Given the description of an element on the screen output the (x, y) to click on. 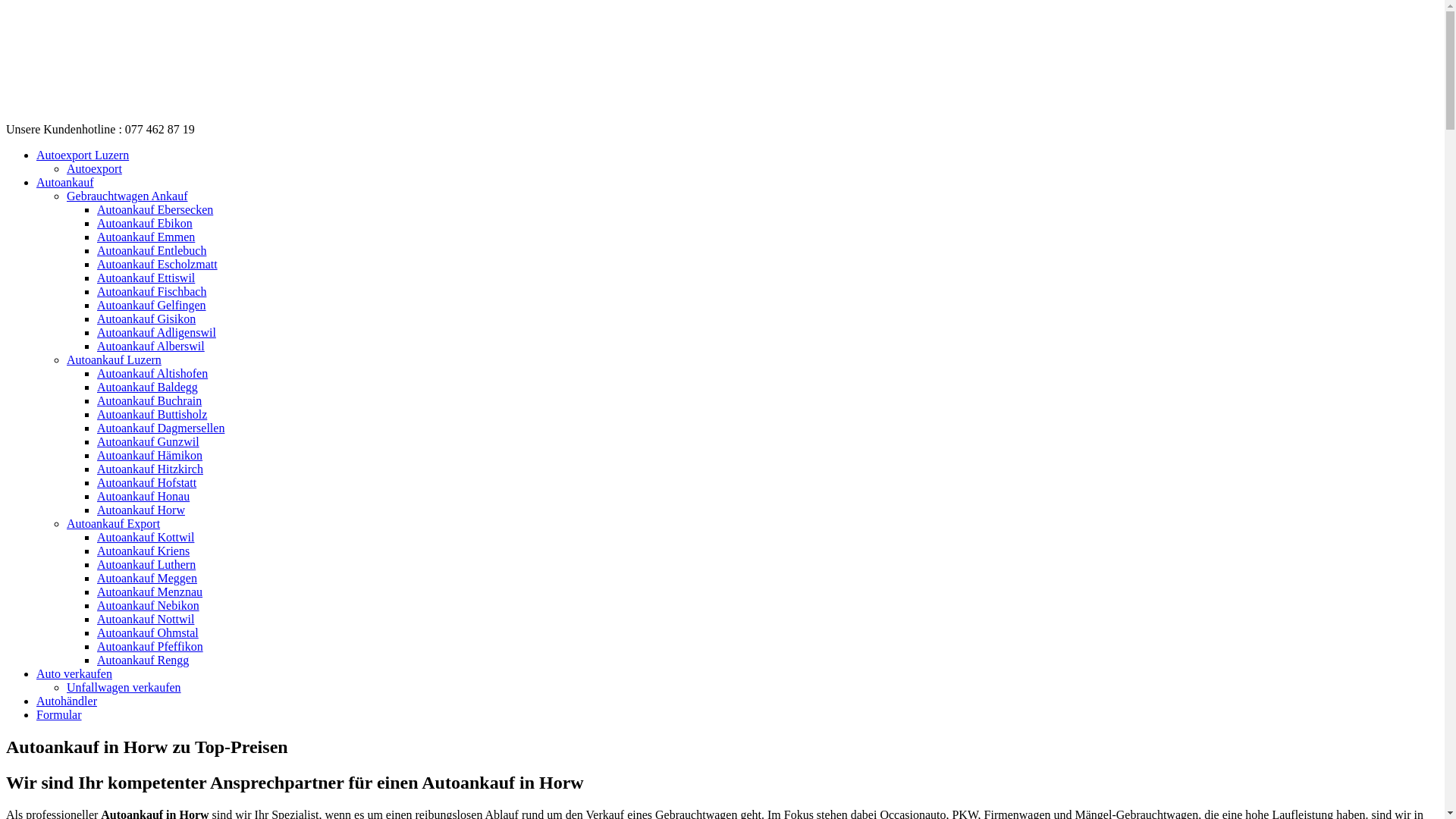
Autoankauf Gisikon Element type: text (146, 318)
Autoankauf Pfeffikon Element type: text (150, 646)
Autoankauf Export Element type: text (113, 523)
Auto verkaufen Element type: text (74, 673)
Autoankauf Ettiswil Element type: text (145, 277)
Unfallwagen verkaufen Element type: text (123, 686)
Autoankauf Fischbach Element type: text (151, 291)
Autoankauf Luthern Element type: text (146, 564)
Autoankauf Nebikon Element type: text (148, 605)
Autoexport Luzern Element type: text (82, 154)
Autoankauf Element type: text (65, 181)
Autoankauf Emmen Element type: text (145, 236)
Autoankauf Entlebuch Element type: text (151, 250)
Autoankauf Meggen Element type: text (147, 577)
Autoankauf Altishofen Element type: text (152, 373)
Autoankauf Buchrain Element type: text (149, 400)
Autoankauf Nottwil Element type: text (145, 618)
Autoankauf Kriens Element type: text (143, 550)
Autoankauf Rengg Element type: text (142, 659)
Autoankauf Honau Element type: text (143, 495)
Gebrauchtwagen Ankauf Element type: text (127, 195)
Autoankauf Ohmstal Element type: text (147, 632)
Autoankauf Adligenswil Element type: text (156, 332)
Autoankauf Ebersecken Element type: text (155, 209)
Autoankauf Ebikon Element type: text (144, 222)
Autoankauf Hofstatt Element type: text (146, 482)
Autoankauf Escholzmatt Element type: text (157, 263)
Autoankauf Horw Element type: text (141, 509)
Autoankauf Gelfingen Element type: text (151, 304)
Autoankauf Hitzkirch Element type: text (150, 468)
Autoankauf Gunzwil Element type: text (148, 441)
Autoankauf Alberswil Element type: text (150, 345)
Autoankauf Luzern Element type: text (113, 359)
Autoankauf Buttisholz Element type: text (152, 413)
Auto in Luzern verkaufen schnell zum Bestpreis Element type: hover (97, 115)
Autoankauf Baldegg Element type: text (147, 386)
Autoexport Element type: text (94, 168)
Autoankauf Menznau Element type: text (149, 591)
Autoankauf Kottwil Element type: text (145, 536)
Formular Element type: text (58, 714)
Autoankauf Dagmersellen Element type: text (160, 427)
